Given the description of an element on the screen output the (x, y) to click on. 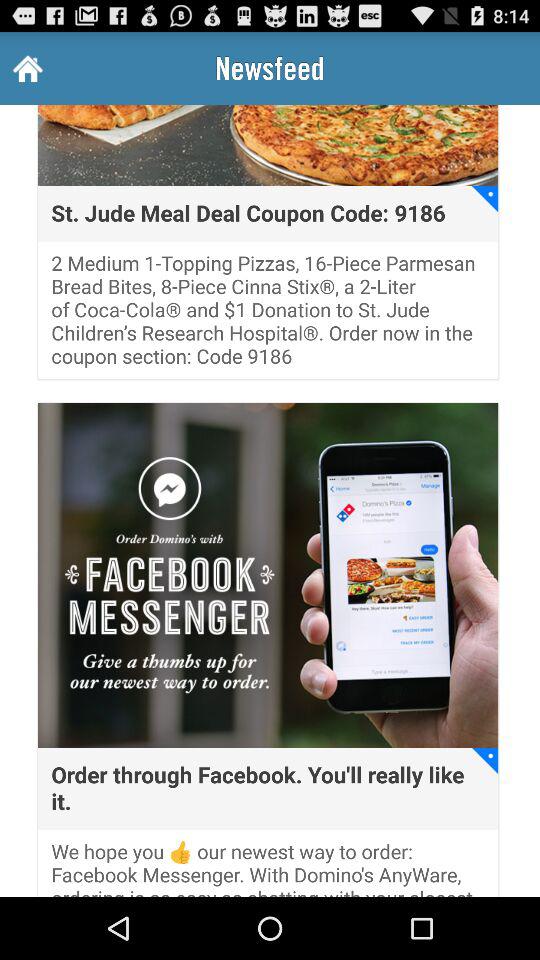
tap we hope you (268, 868)
